Given the description of an element on the screen output the (x, y) to click on. 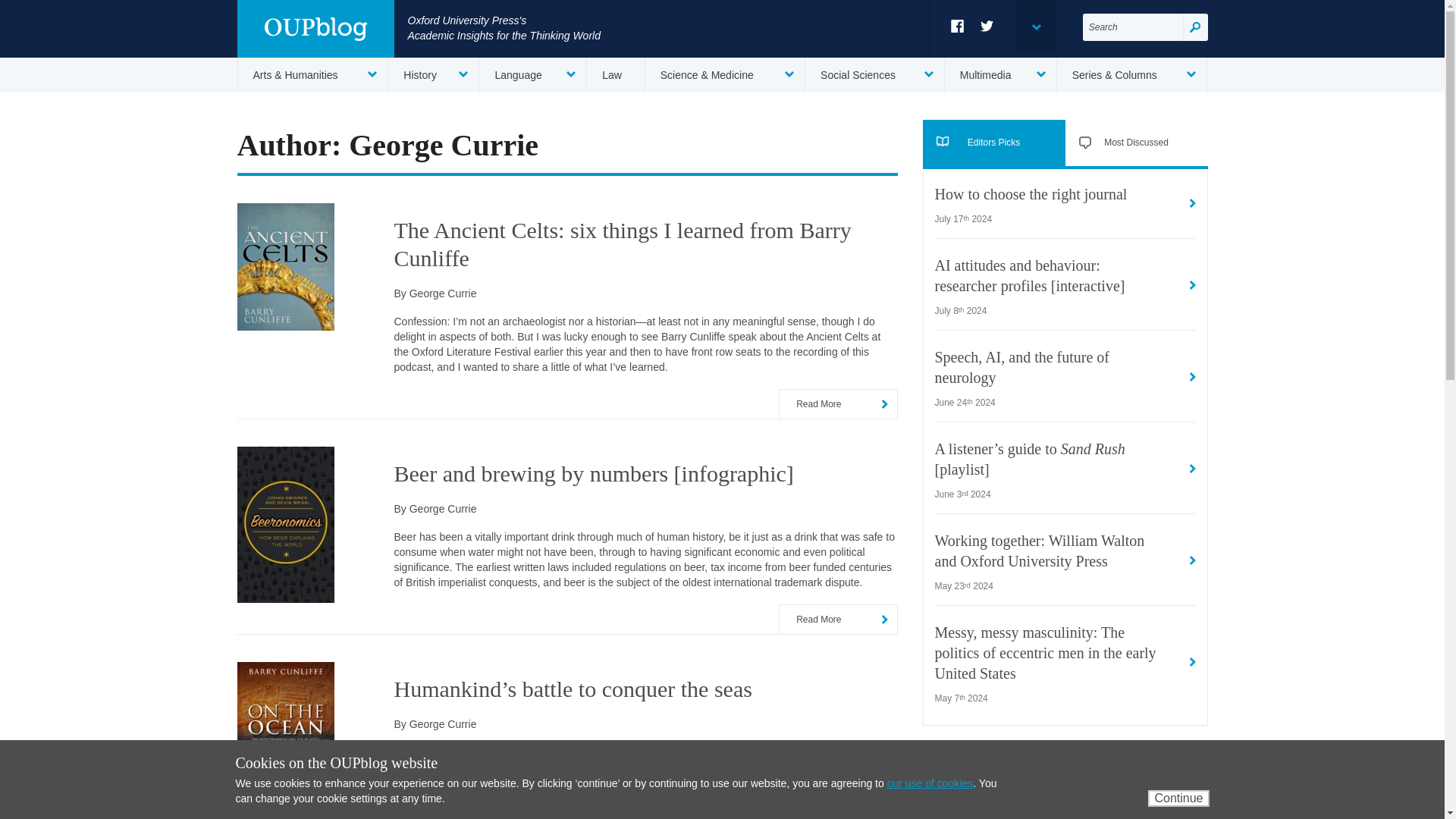
Search for: (1132, 26)
Language (532, 74)
History (433, 74)
Continue (1178, 798)
Subscribe (1154, 805)
Twitter (986, 25)
Facebook (957, 25)
our use of cookies (930, 783)
Search (1195, 26)
